Given the description of an element on the screen output the (x, y) to click on. 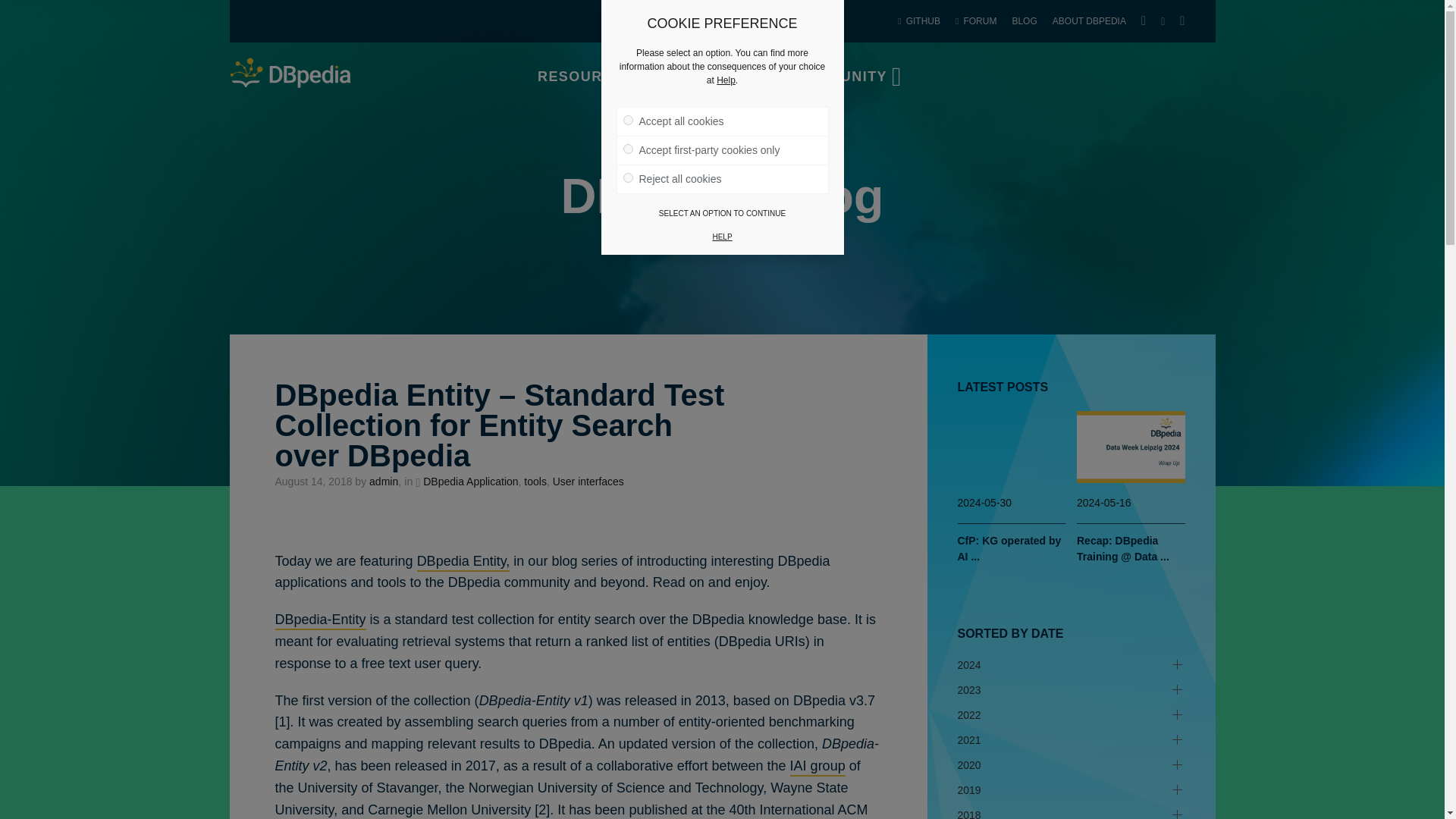
FORUM (975, 21)
reject-all (628, 177)
BLOG (1023, 21)
first-party (628, 148)
GITHUB (918, 21)
ABOUT DBPEDIA (1089, 21)
MEMBERS (716, 76)
Homepage (289, 72)
all (628, 120)
COMMUNITY (842, 76)
RESOURCES (588, 76)
